Given the description of an element on the screen output the (x, y) to click on. 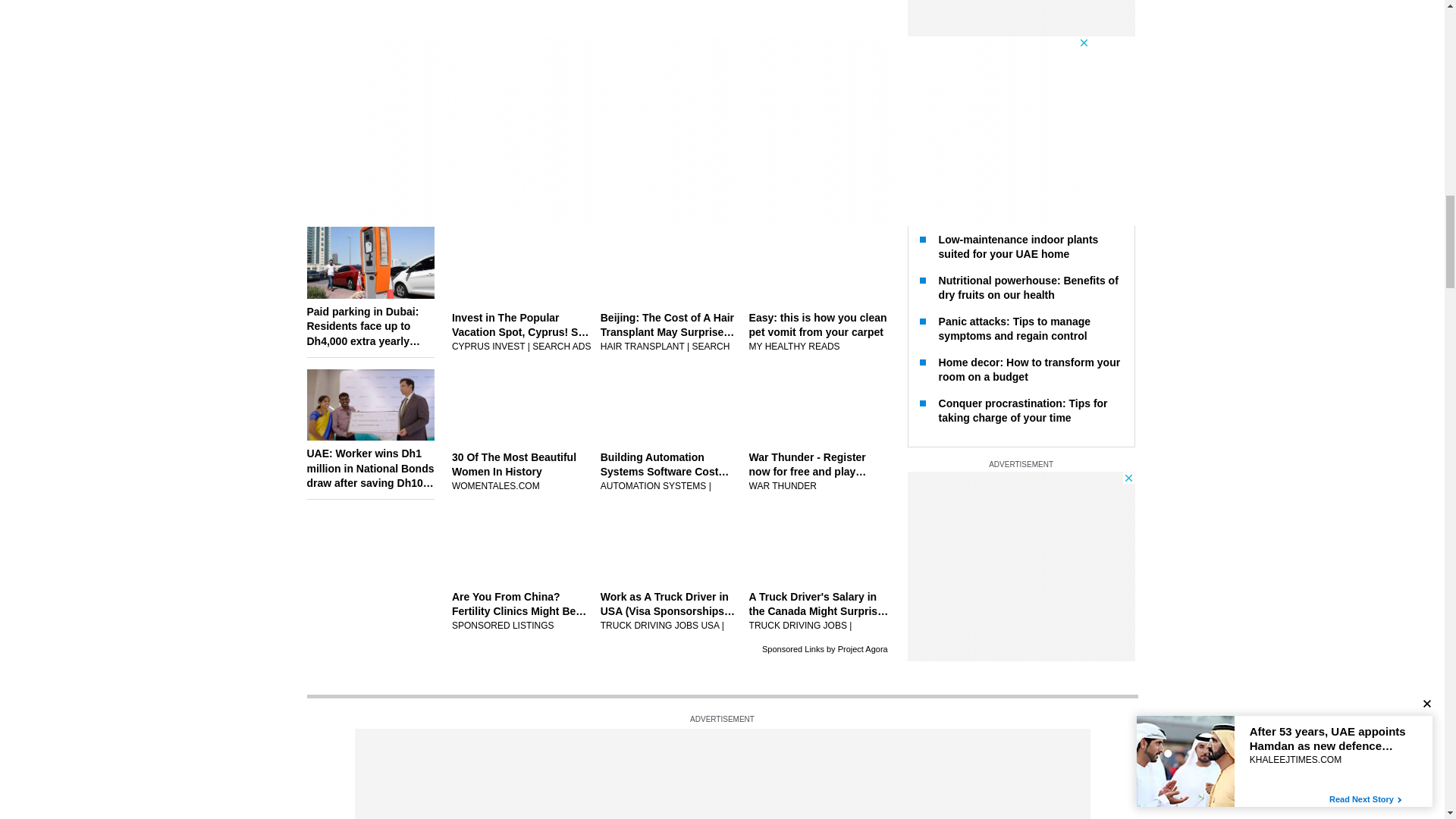
Invest in The Popular Vacation Spot, Cyprus! See Options (521, 332)
Are You From China? Fertility Clinics Might Be Surprising (521, 611)
Beijing: The Cost of A Hair Transplant May Surprise You (669, 332)
Building Automation Systems Software Cost Might Surprise you (669, 471)
Easy: this is how you clean pet vomit from your carpet (818, 332)
30 Of The Most Beautiful Women In History (521, 471)
